Given the description of an element on the screen output the (x, y) to click on. 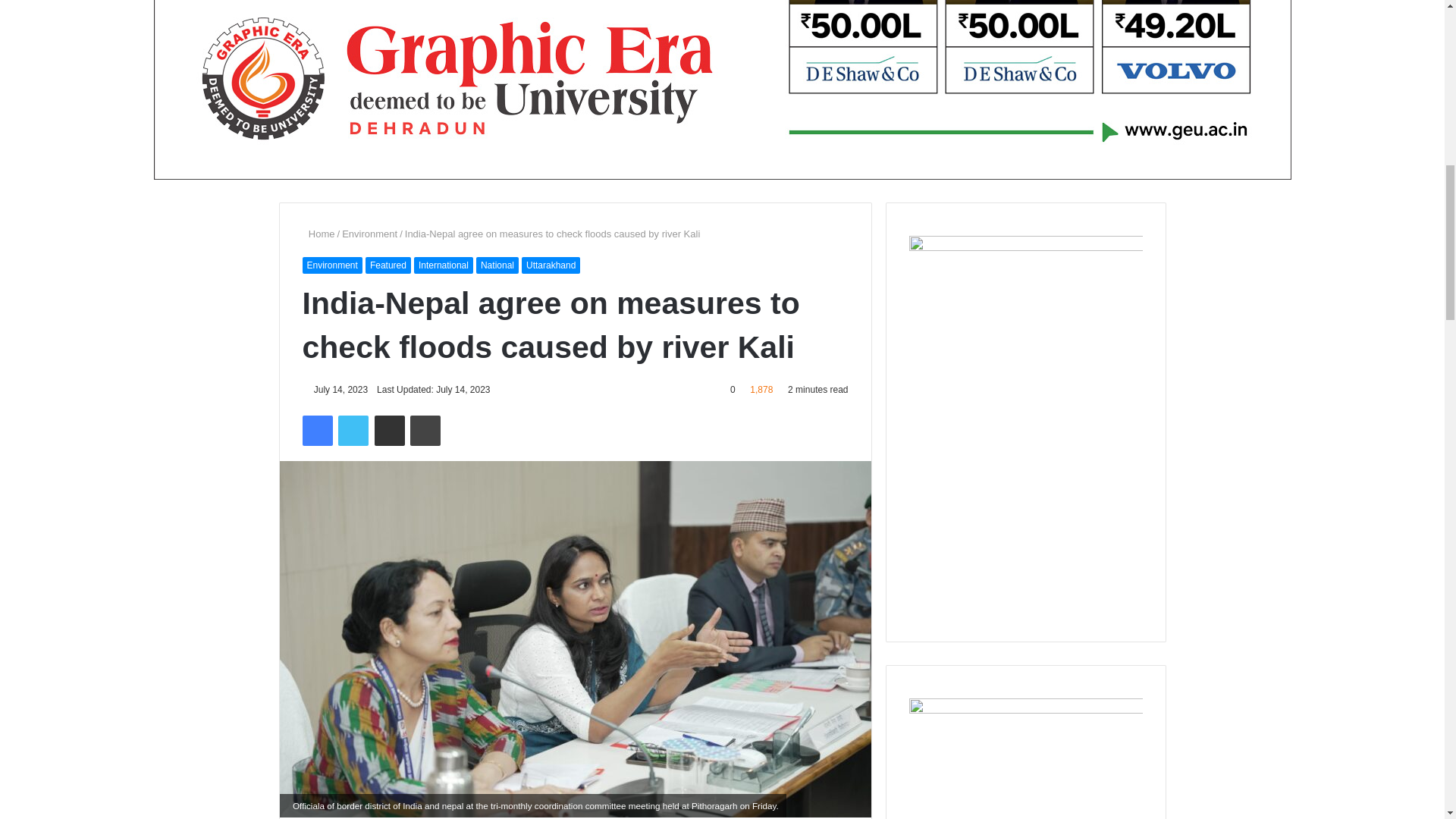
Home (317, 233)
Share via Email (389, 430)
Environment (369, 233)
Facebook (316, 430)
Featured (387, 265)
Print (425, 430)
Twitter (352, 430)
Environment (331, 265)
International (443, 265)
